Given the description of an element on the screen output the (x, y) to click on. 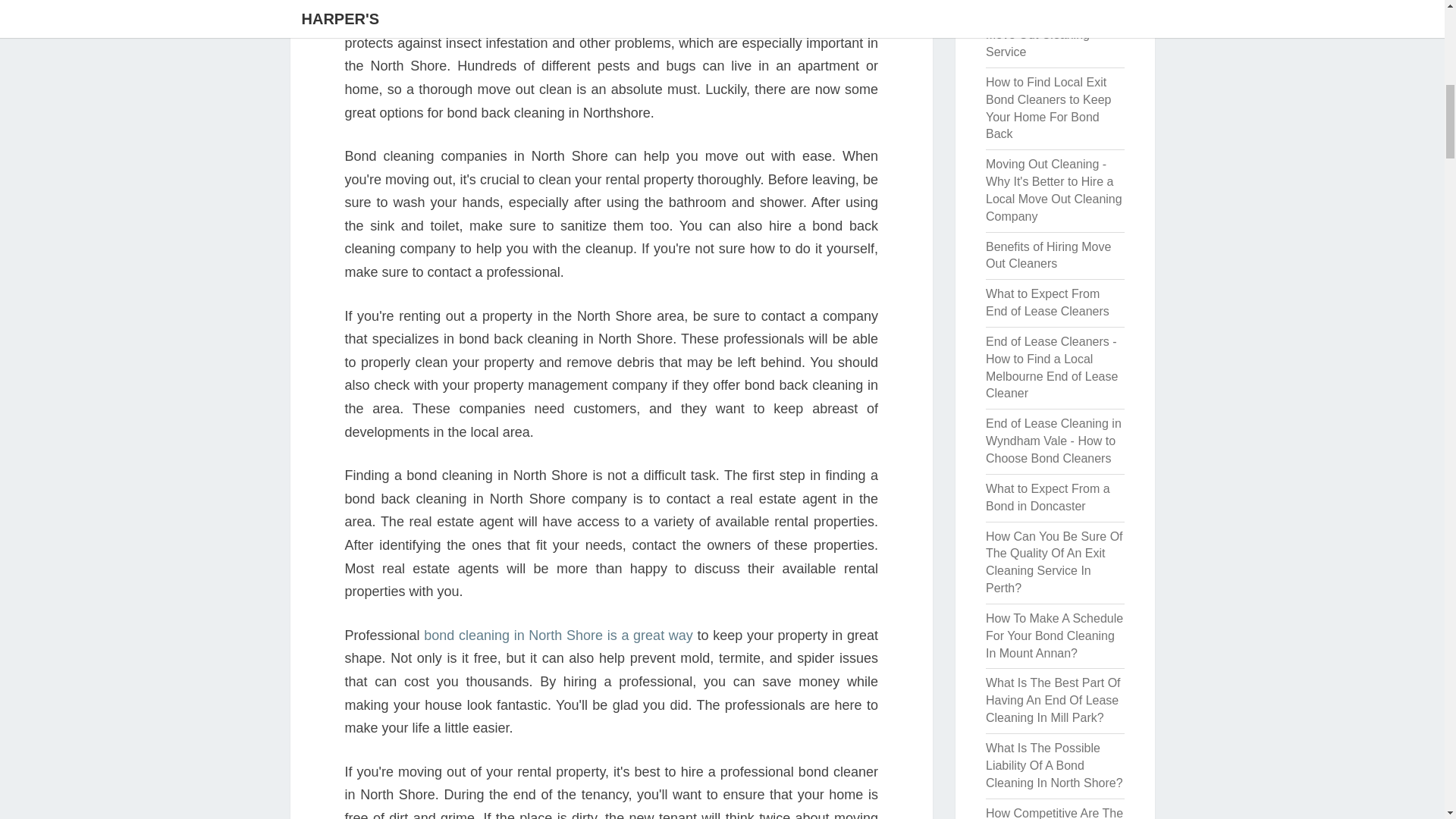
What to Expect From a Bond in Doncaster (1047, 497)
bond cleaning in North Shore is a great way (558, 635)
Benefits of Hiring Move Out Cleaners (1047, 255)
How Competitive Are The Exit Clean Companies In Perth? (1053, 812)
What to Expect From a Move Out Cleaning Service (1047, 34)
